Given the description of an element on the screen output the (x, y) to click on. 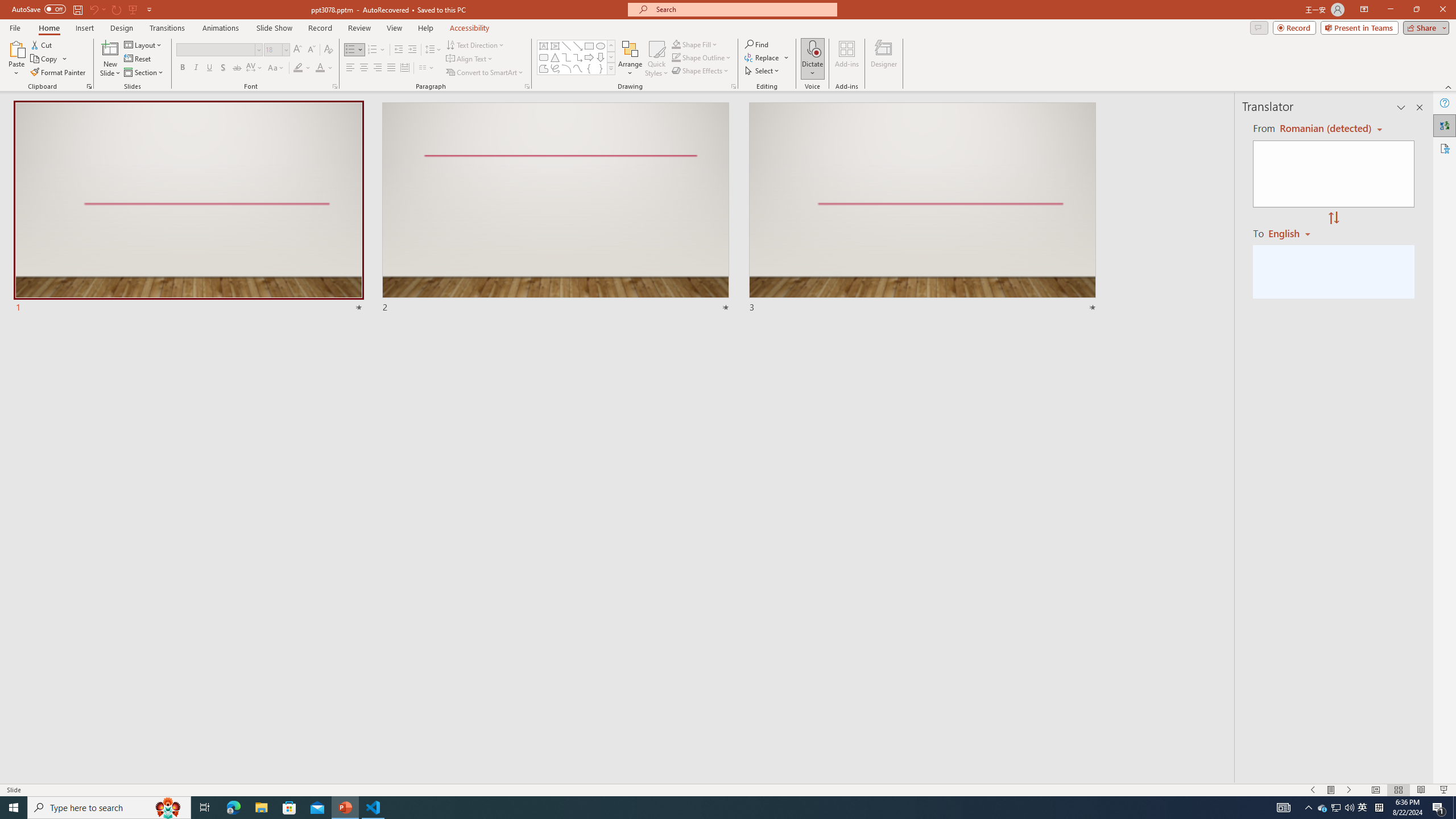
Shape Outline (701, 56)
Increase Indent (412, 49)
